Given the description of an element on the screen output the (x, y) to click on. 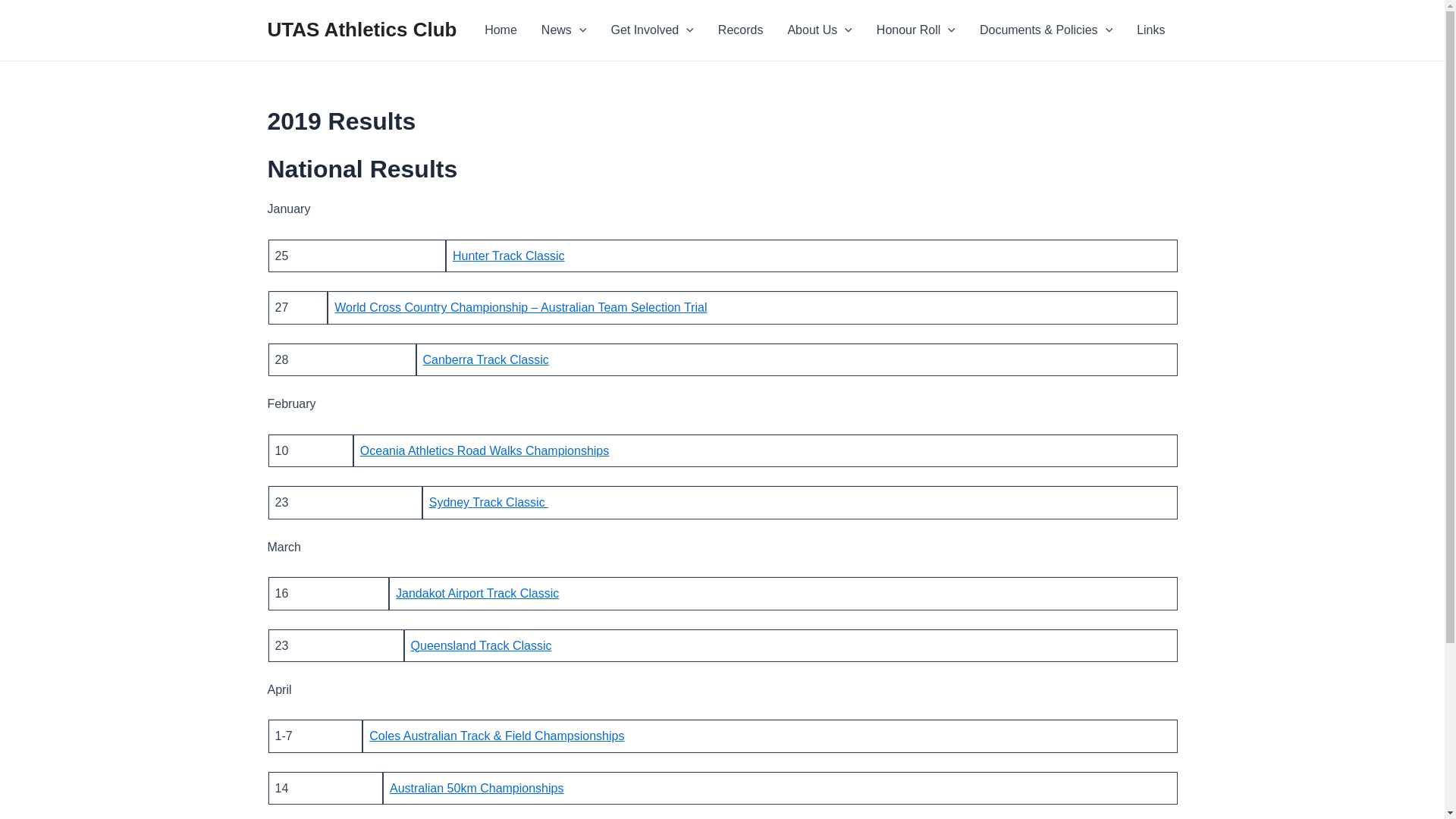
News Element type: text (564, 30)
Honour Roll Element type: text (915, 30)
Oceania Athletics Road Walks Championships Element type: text (484, 450)
UTAS Athletics Club Element type: text (361, 29)
Canberra Track Classic Element type: text (486, 359)
Australian 50km Championships Element type: text (476, 787)
Documents & Policies Element type: text (1045, 30)
Links Element type: text (1150, 30)
Records Element type: text (740, 30)
Sydney Track Classic  Element type: text (488, 501)
Hunter Track Classic Element type: text (508, 255)
Home Element type: text (500, 30)
Queensland Track Classic Element type: text (481, 645)
Coles Australian Track & Field Champsionships Element type: text (496, 735)
Jandakot Airport Track Classic Element type: text (476, 592)
Get Involved Element type: text (651, 30)
About Us Element type: text (819, 30)
